Given the description of an element on the screen output the (x, y) to click on. 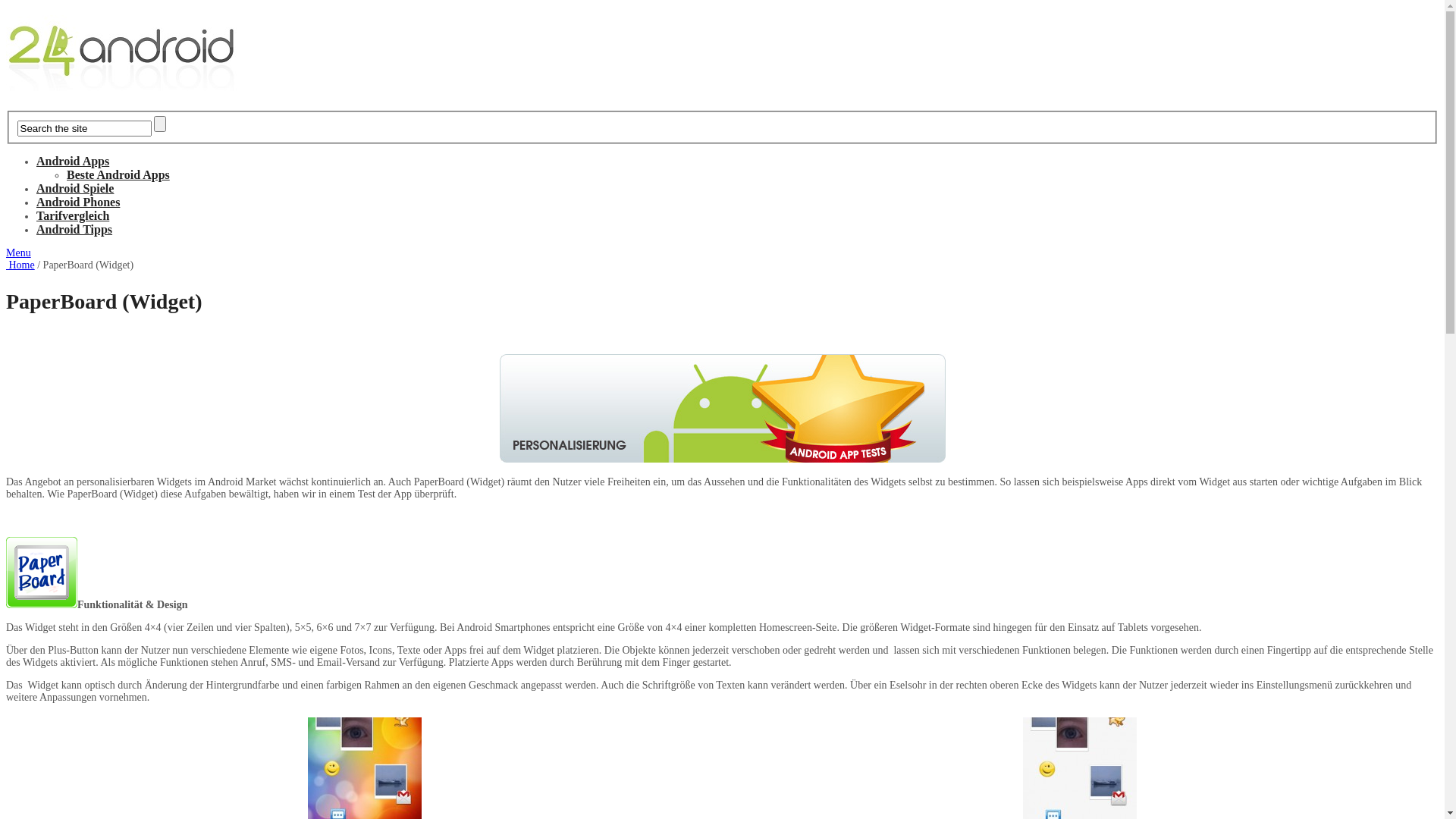
spacer2 Element type: hover (17, 336)
Tarifvergleich Element type: text (72, 215)
 Home Element type: text (20, 264)
Android Phones Element type: text (77, 201)
spacer Element type: hover (17, 522)
Android Apps Element type: text (72, 160)
App Tests: Personalisierung Element type: hover (721, 408)
Android Spiele Element type: text (74, 188)
Menu Element type: text (18, 252)
Android Tipps Element type: text (74, 228)
PaperBoard (Widget) Element type: hover (41, 572)
Beste Android Apps Element type: text (117, 174)
